Given the description of an element on the screen output the (x, y) to click on. 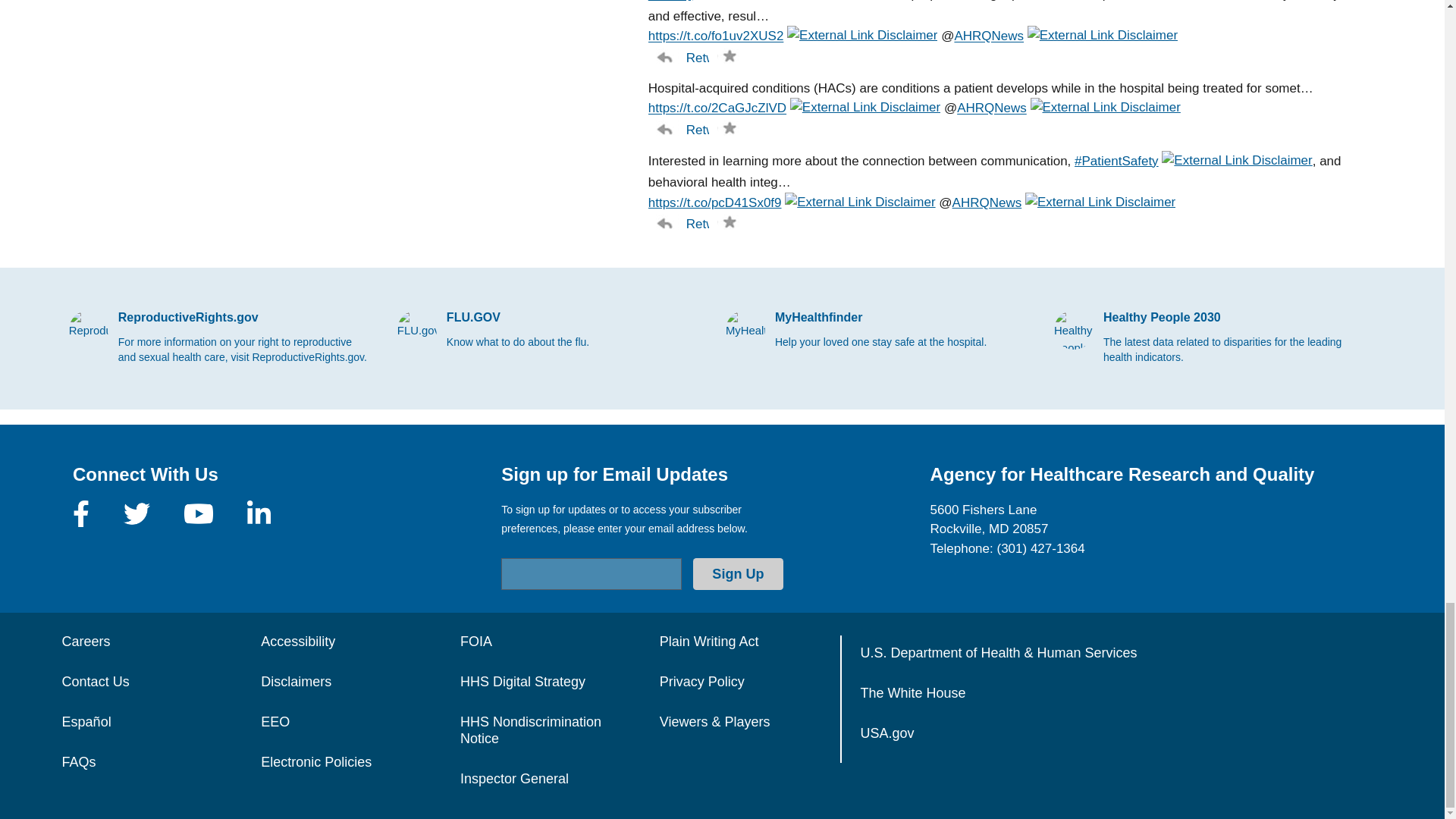
External Link Disclaimer (770, 3)
Sign Up (738, 573)
External Link Disclaimer (1102, 36)
External Link Disclaimer (865, 108)
External Link Disclaimer (862, 36)
